Given the description of an element on the screen output the (x, y) to click on. 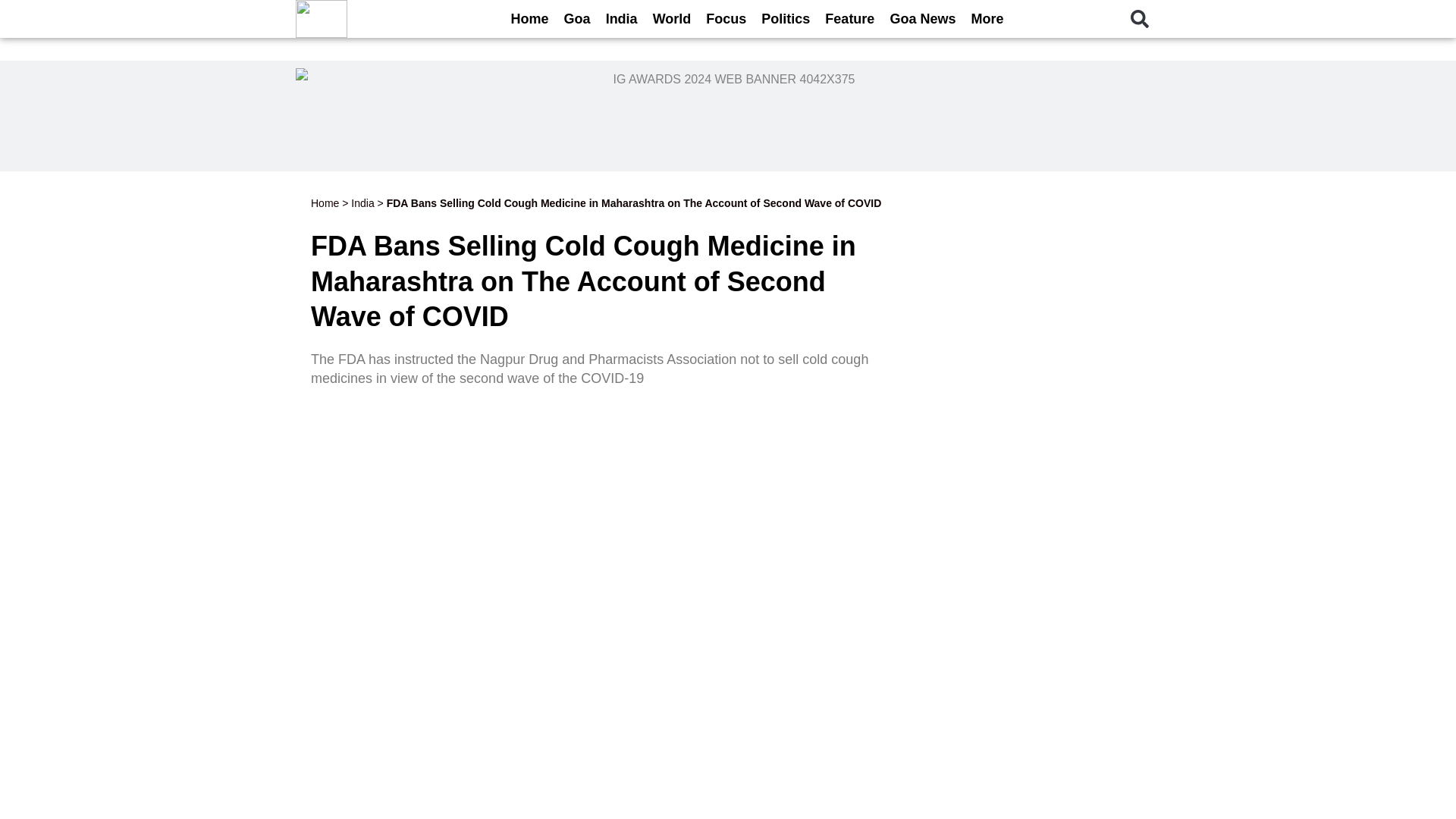
Goa News (922, 18)
World (671, 18)
Focus (726, 18)
India (621, 18)
Goa (577, 18)
Politics (785, 18)
More (986, 18)
Feature (849, 18)
Home (529, 18)
